Given the description of an element on the screen output the (x, y) to click on. 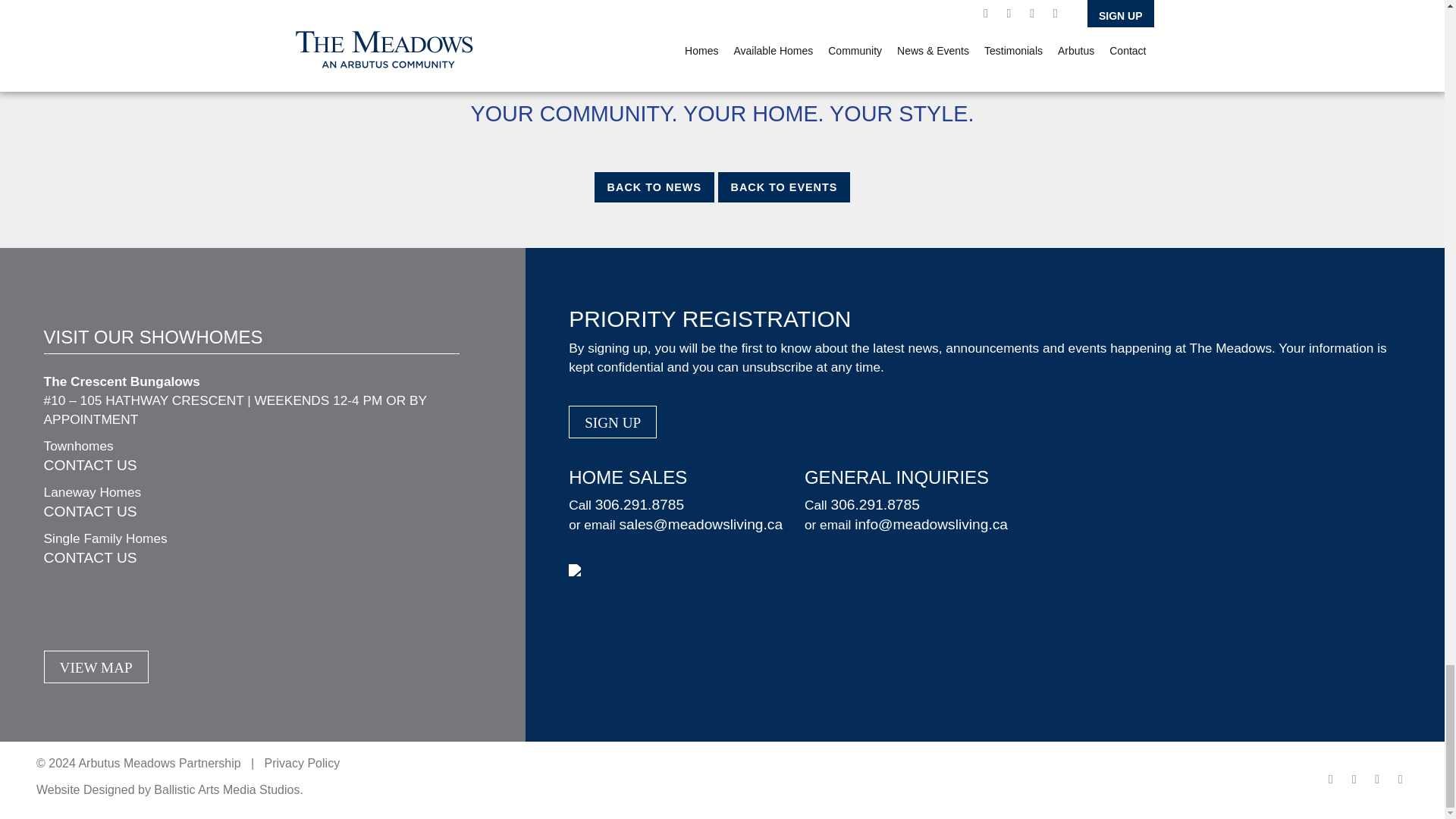
VIEW MAP (95, 666)
 email or call us (489, 69)
CONTACT US (89, 465)
306.291.8785 (873, 504)
BACK TO NEWS (654, 186)
CONTACT US (89, 557)
CONTACT US (89, 511)
SIGN UP (612, 421)
Privacy Policy (302, 762)
306.291.8785 (639, 504)
